Given the description of an element on the screen output the (x, y) to click on. 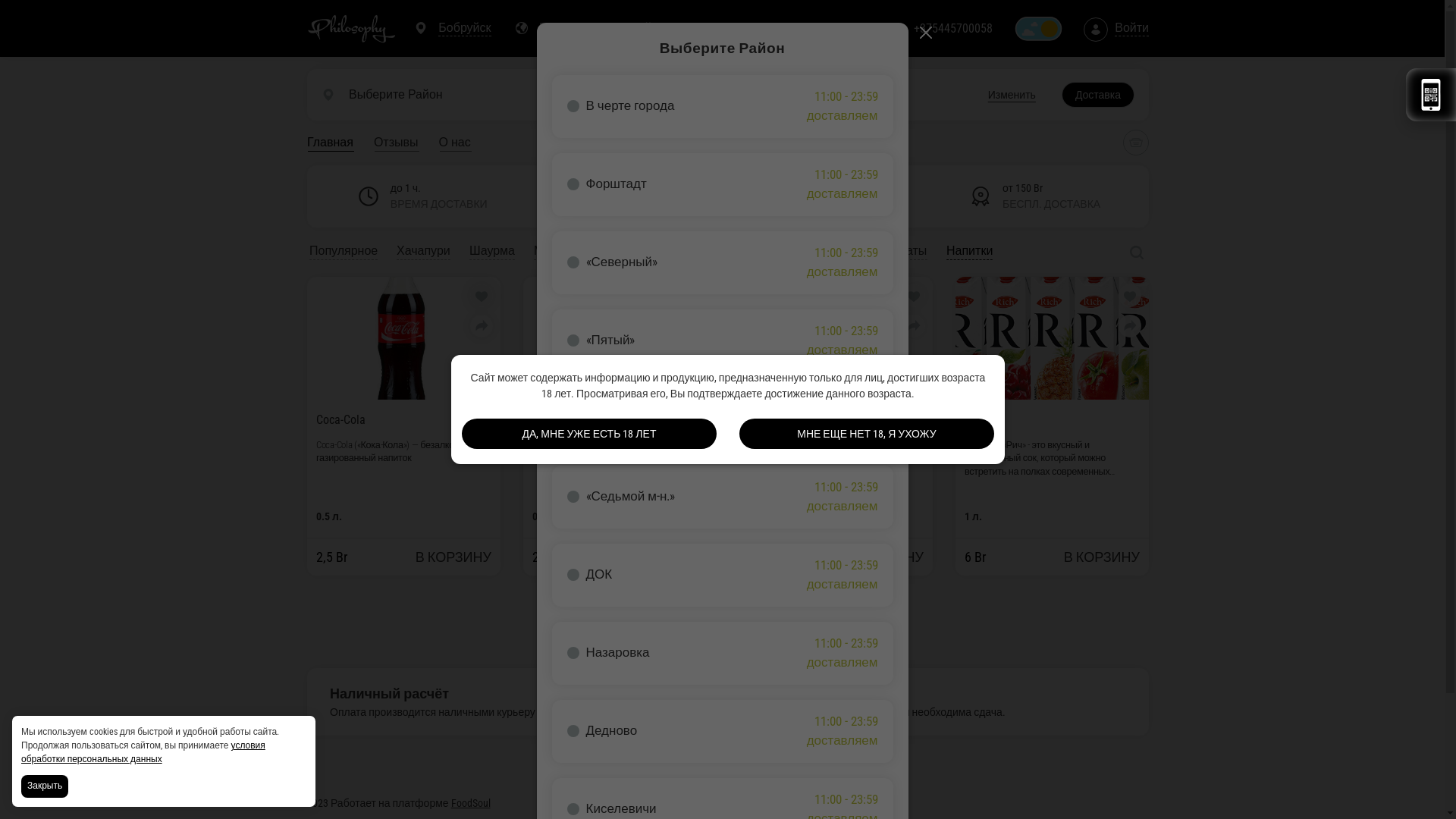
+375445700058 Element type: text (952, 28)
